Given the description of an element on the screen output the (x, y) to click on. 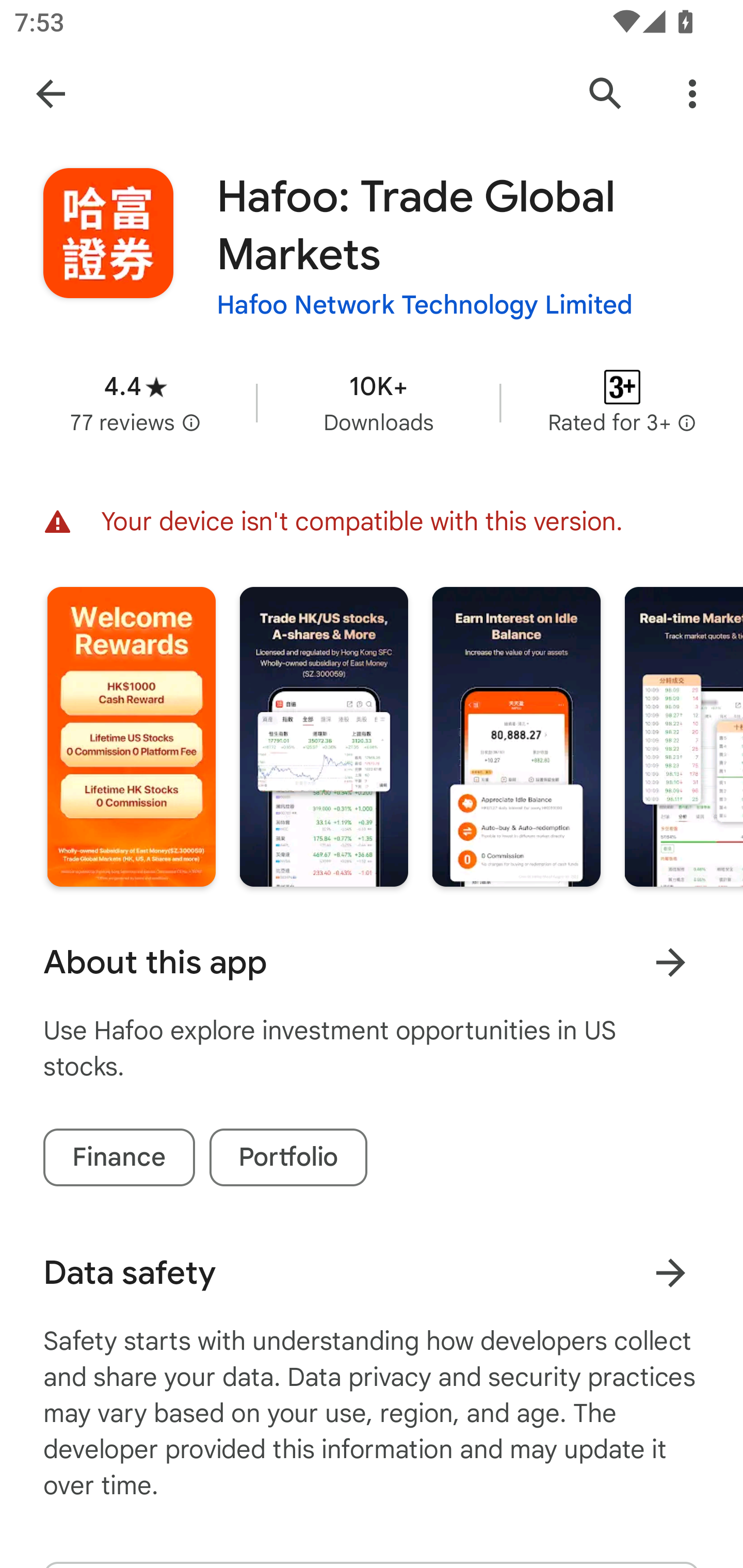
Navigate up (50, 93)
Search Google Play (605, 93)
More Options (692, 93)
Hafoo Network Technology Limited (424, 304)
Average rating 4.4 stars in 77 reviews (135, 402)
Content rating Rated for 3+ (622, 402)
Screenshot "1" of "8" (130, 735)
Screenshot "2" of "8" (323, 735)
Screenshot "3" of "8" (515, 735)
Screenshot "4" of "8" (683, 735)
About this app Learn more About this app (371, 962)
Learn more About this app (670, 961)
Finance tag (118, 1157)
Portfolio tag (288, 1157)
Data safety Learn more about data safety (371, 1273)
Learn more about data safety (670, 1272)
